Given the description of an element on the screen output the (x, y) to click on. 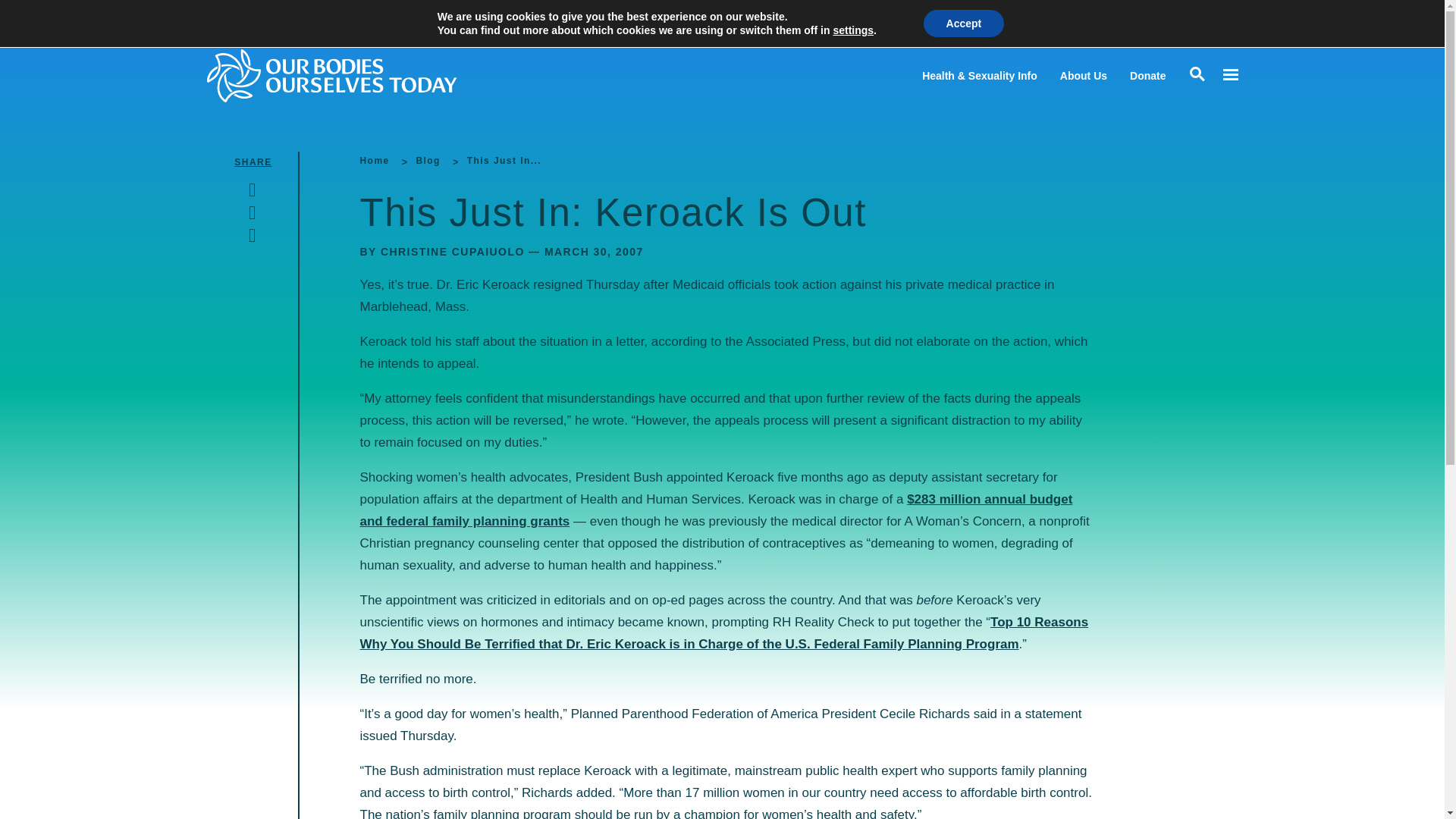
This Just In: Keroack Is Out (504, 160)
About Us (1083, 75)
Donate (1147, 75)
Expand navigation (1229, 75)
Blog (426, 160)
Our Bodies Ourselves Today (361, 75)
Home (373, 160)
Search (15, 15)
